Given the description of an element on the screen output the (x, y) to click on. 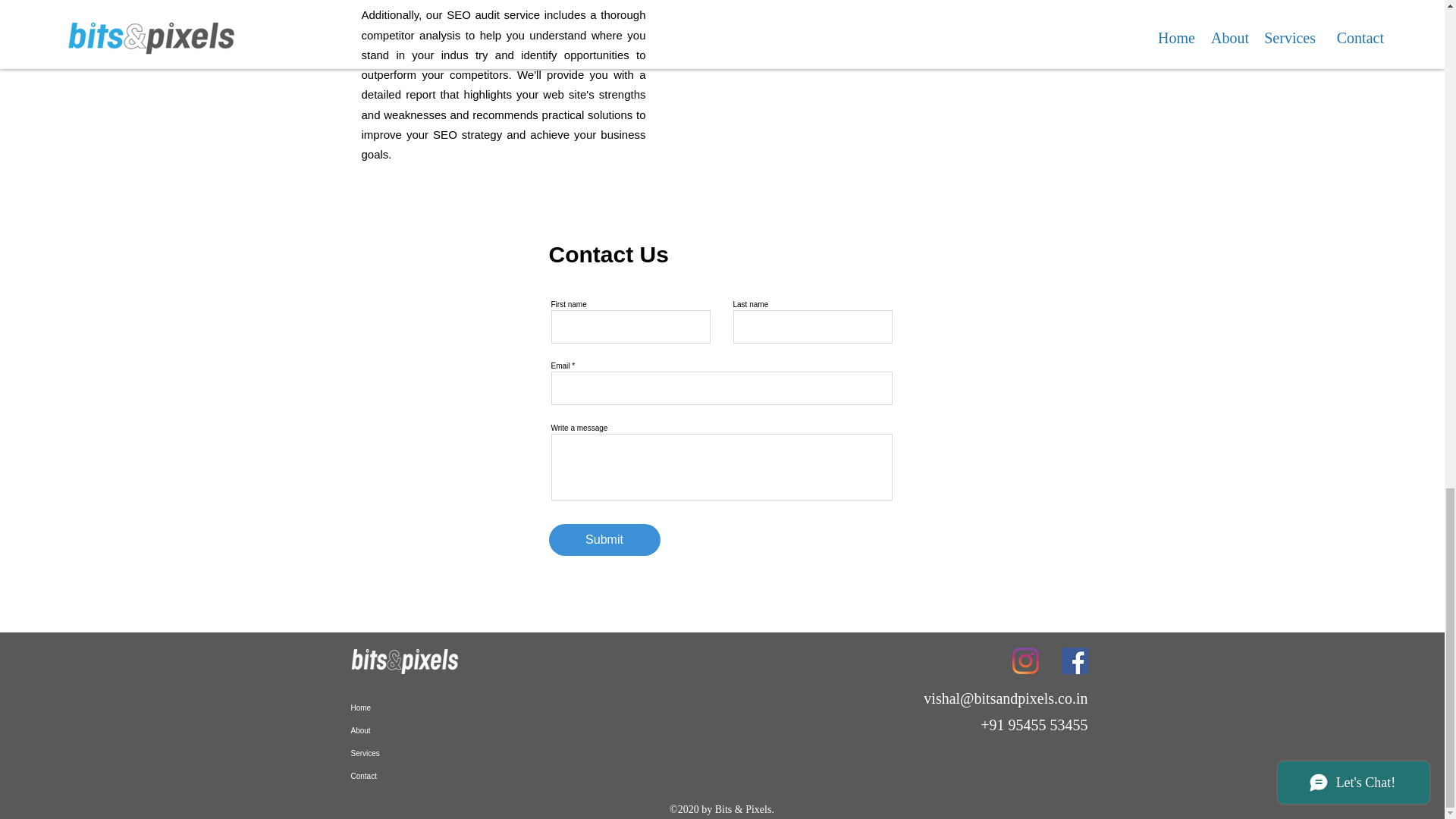
Contact (427, 775)
Home (427, 707)
Submit (604, 540)
About (427, 730)
